Given the description of an element on the screen output the (x, y) to click on. 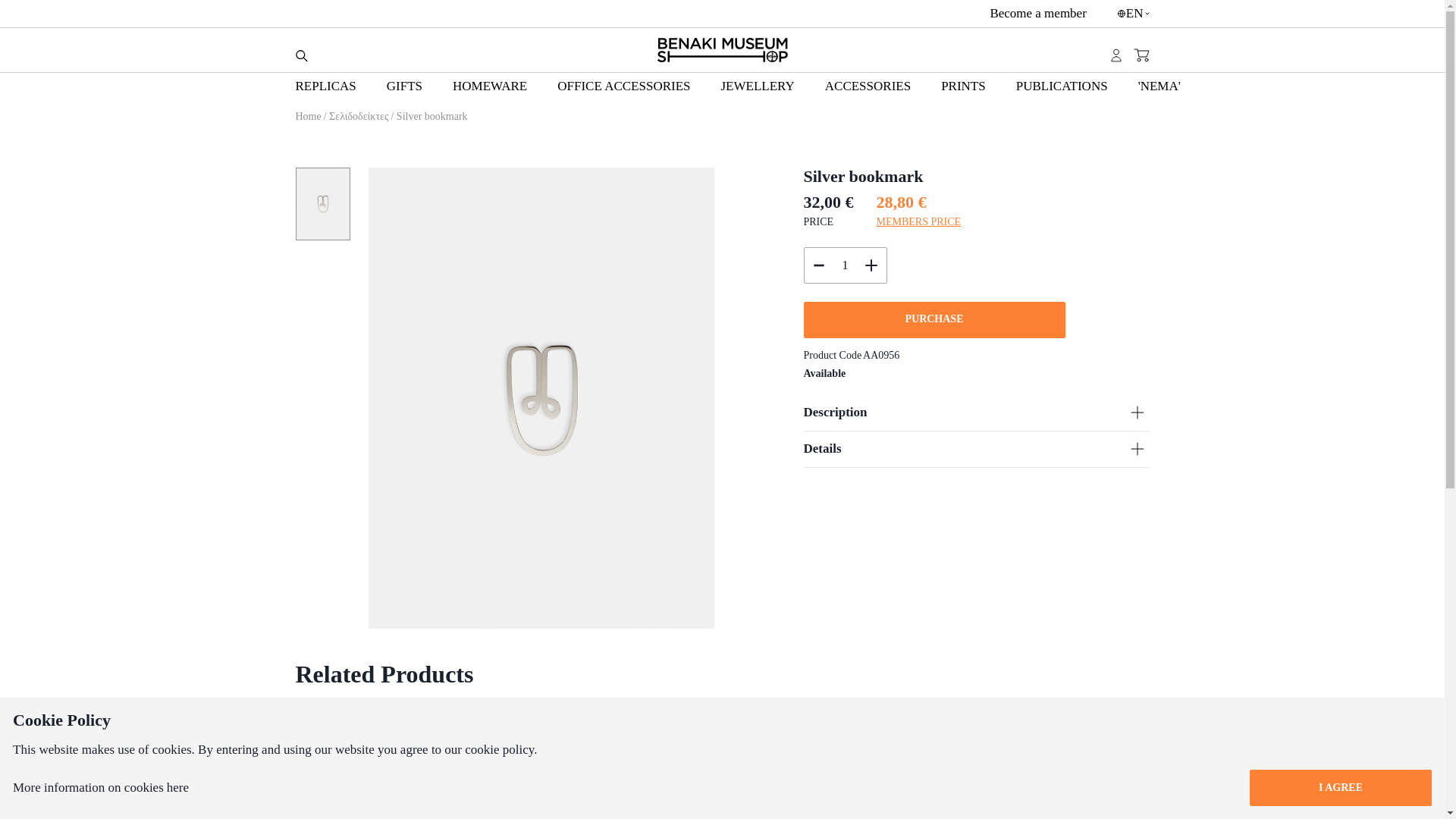
PRINTS (962, 86)
MEMBERS PRICE (918, 220)
Bookmark (832, 762)
Bookmark (395, 762)
Home (309, 116)
EN (1133, 13)
Bookmark (613, 762)
PUBLICATIONS (1062, 86)
JEWELLERY (756, 86)
ACCESSORIES (868, 86)
Details (976, 448)
PURCHASE (934, 320)
HOMEWARE (489, 86)
GIFTS (404, 86)
'NEMA' (1159, 86)
